Given the description of an element on the screen output the (x, y) to click on. 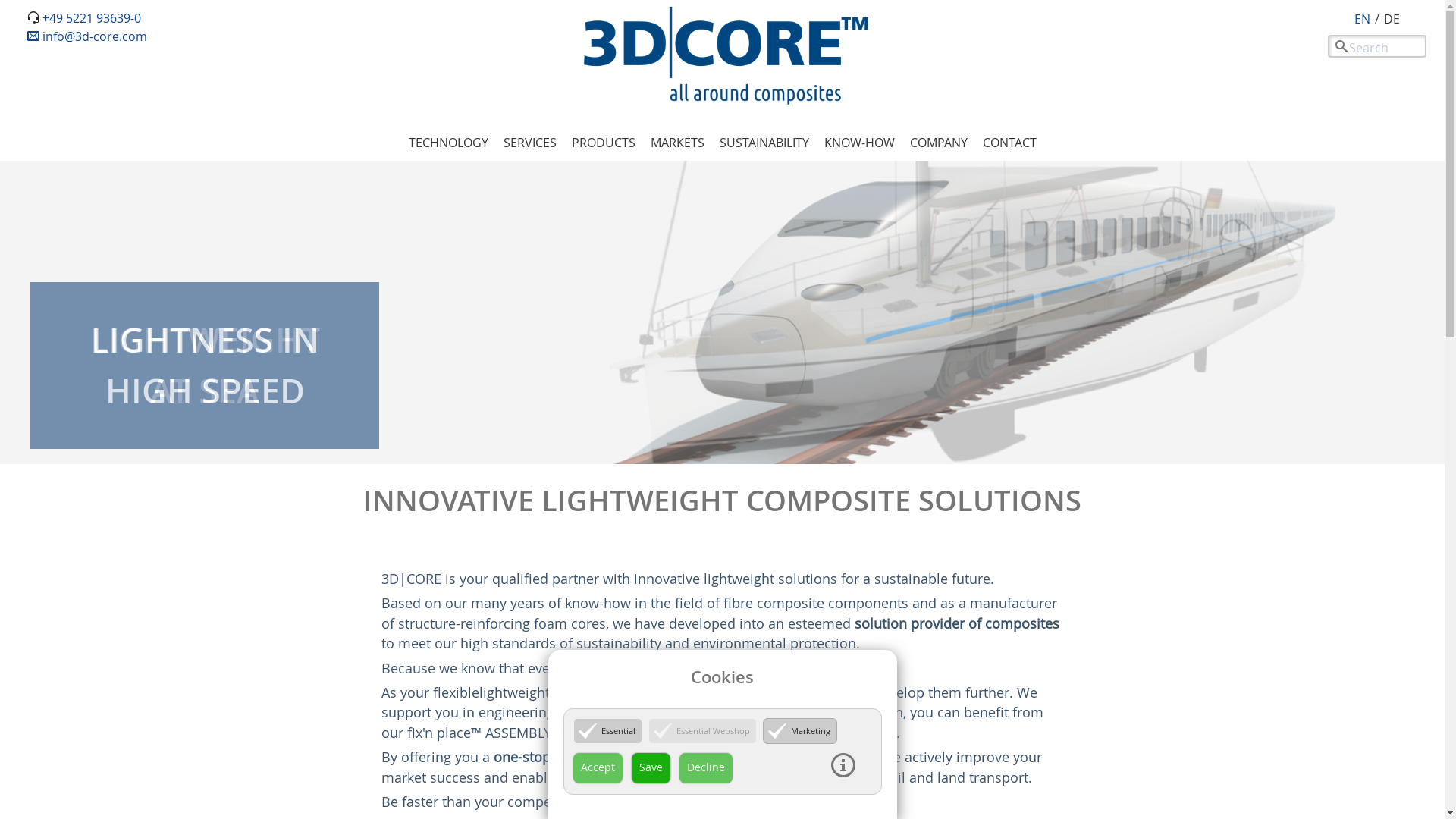
EN Element type: text (1361, 18)
info@3d-core.com Element type: text (87, 36)
COMPANY Element type: text (938, 142)
KNOW-HOW Element type: text (858, 142)
SERVICES Element type: text (529, 142)
MARINE Element type: text (771, 183)
QUALITY & ENVIRONMENT Element type: text (1031, 219)
Decline Element type: text (705, 768)
TECHNOLOGY Element type: text (447, 142)
ASSOCATIONS Element type: text (1031, 292)
CONTACT Element type: text (1009, 142)
WIND ENERGY Element type: text (771, 310)
SUSTAINABILITY CONCEPT Element type: text (624, 219)
PRODUCTION Element type: text (624, 274)
Save Element type: text (649, 768)
CORPORATE COMPLIANCE Element type: text (1031, 255)
SUSTAINABILITY Element type: text (763, 142)
TRANSPORT Element type: text (771, 219)
PRE-SERIES Element type: text (624, 255)
NEWS Element type: text (1031, 183)
AUTOMOTIVE Element type: text (771, 255)
SANDWICH OPTIMIZATION Element type: text (624, 201)
SPORTS & LEISURE Element type: text (771, 274)
DOWNLOADS Element type: text (944, 183)
HISTORY Element type: text (1031, 237)
Home Element type: hover (722, 56)
+49 5221 93639-0 Element type: text (91, 17)
PRODUCTS Element type: text (603, 142)
EFFICIENCY CALCULATION Element type: text (624, 237)
ABOUT US Element type: text (1031, 201)
DISTRIBUTORS Element type: text (1031, 274)
Accept Element type: text (597, 768)
MARKETS Element type: text (677, 142)
RAILWAY Element type: text (771, 201)
ENGINEERING Element type: text (624, 183)
DESIGN & ARCHITECTURE Element type: text (771, 292)
DE Element type: text (1391, 18)
WINDING Element type: text (771, 237)
